Given the description of an element on the screen output the (x, y) to click on. 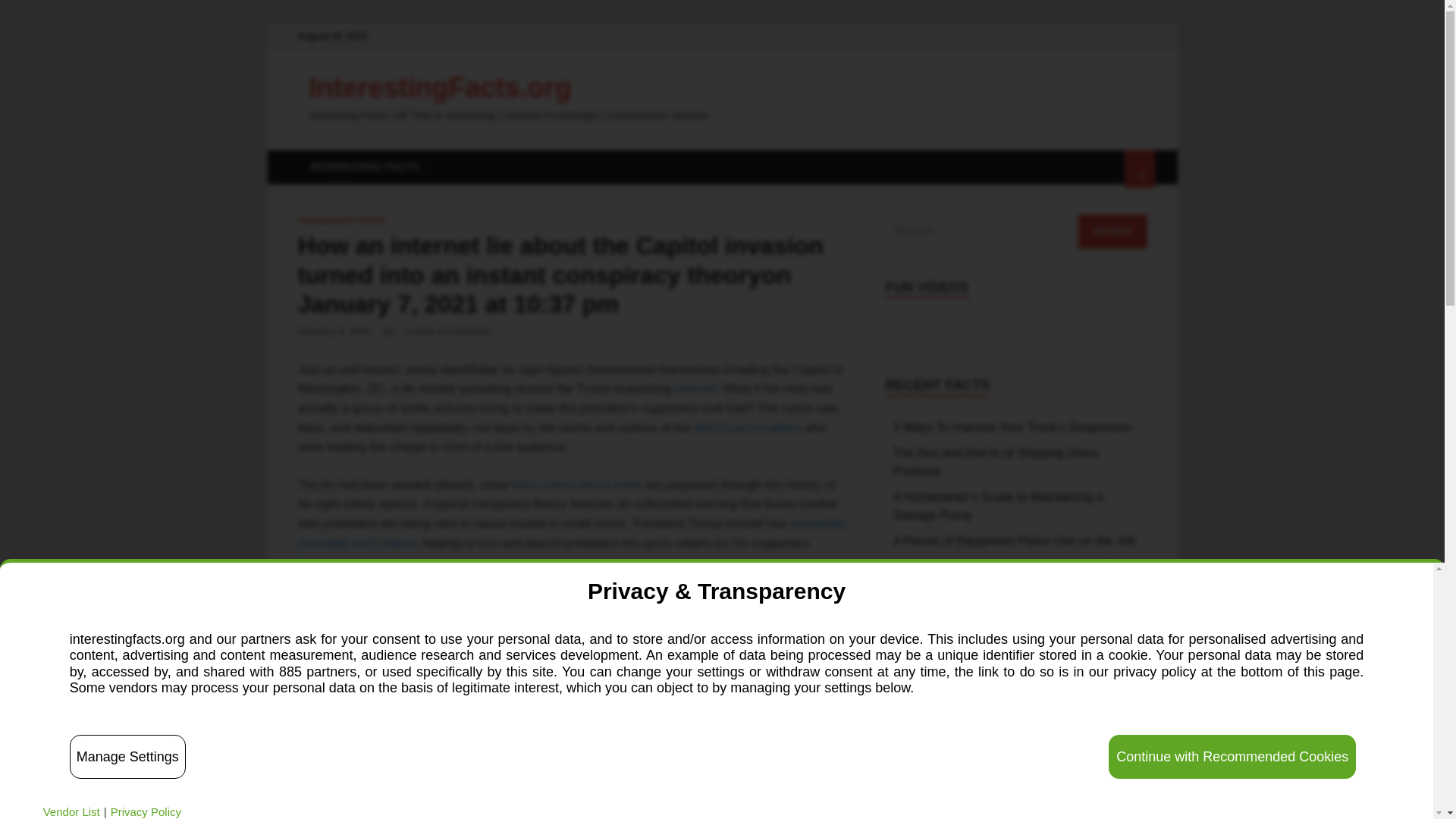
Leave a Comment (448, 330)
internet (694, 388)
repeatedly promoted such claims (571, 532)
Search (1112, 231)
intelligence (489, 667)
TECHNOLOGY FACTS (341, 220)
MAGA personalities (748, 427)
INTERESTING FACTS (369, 166)
people (789, 686)
false claims about antifa (577, 484)
